Given the description of an element on the screen output the (x, y) to click on. 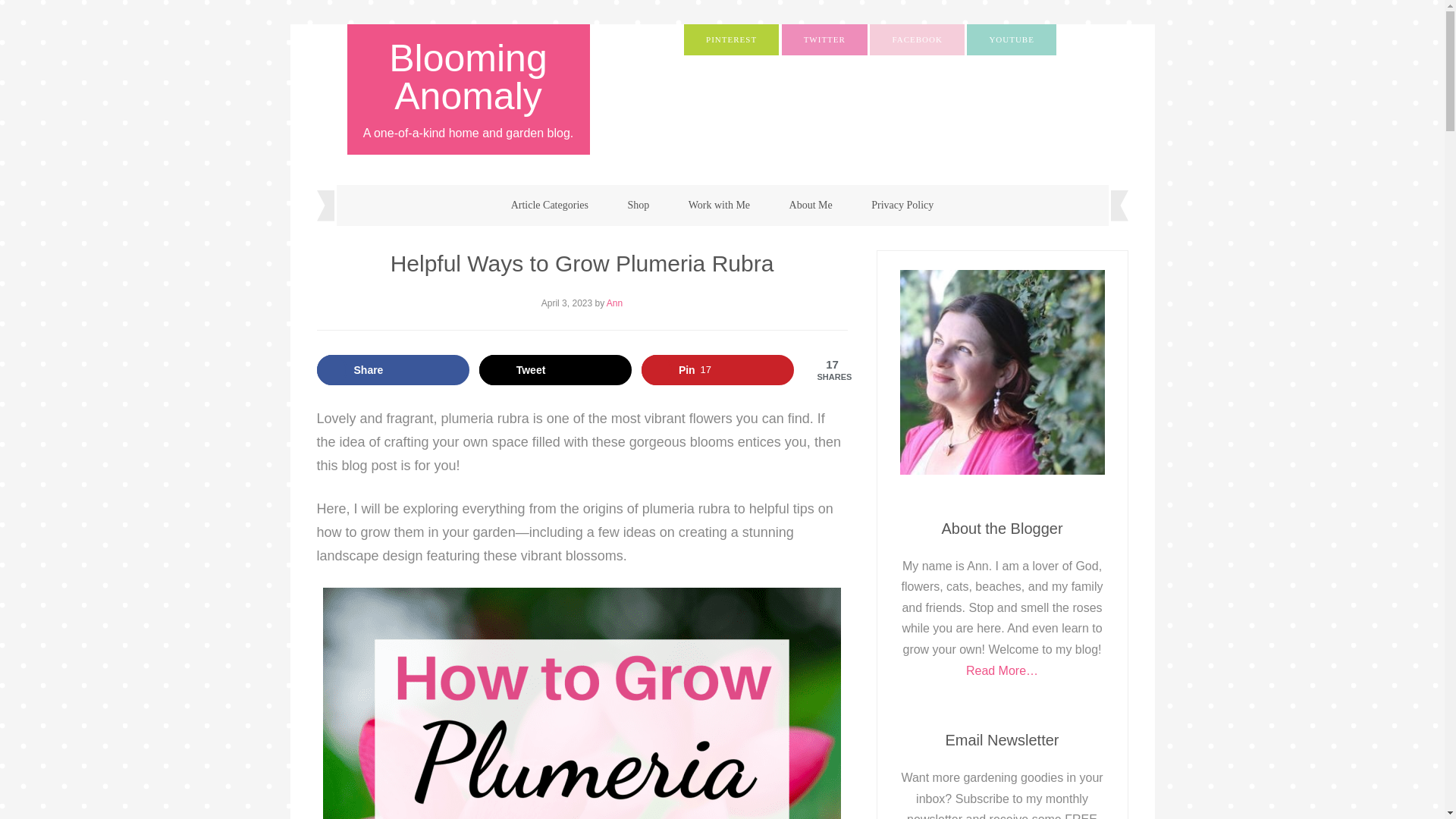
Share on X (555, 369)
Work with Me (718, 205)
Shop (637, 205)
Share on Facebook (393, 369)
PINTEREST (731, 39)
Tweet (555, 369)
Share (393, 369)
FACEBOOK (916, 39)
Article Categories (550, 205)
About Me (810, 205)
